Given the description of an element on the screen output the (x, y) to click on. 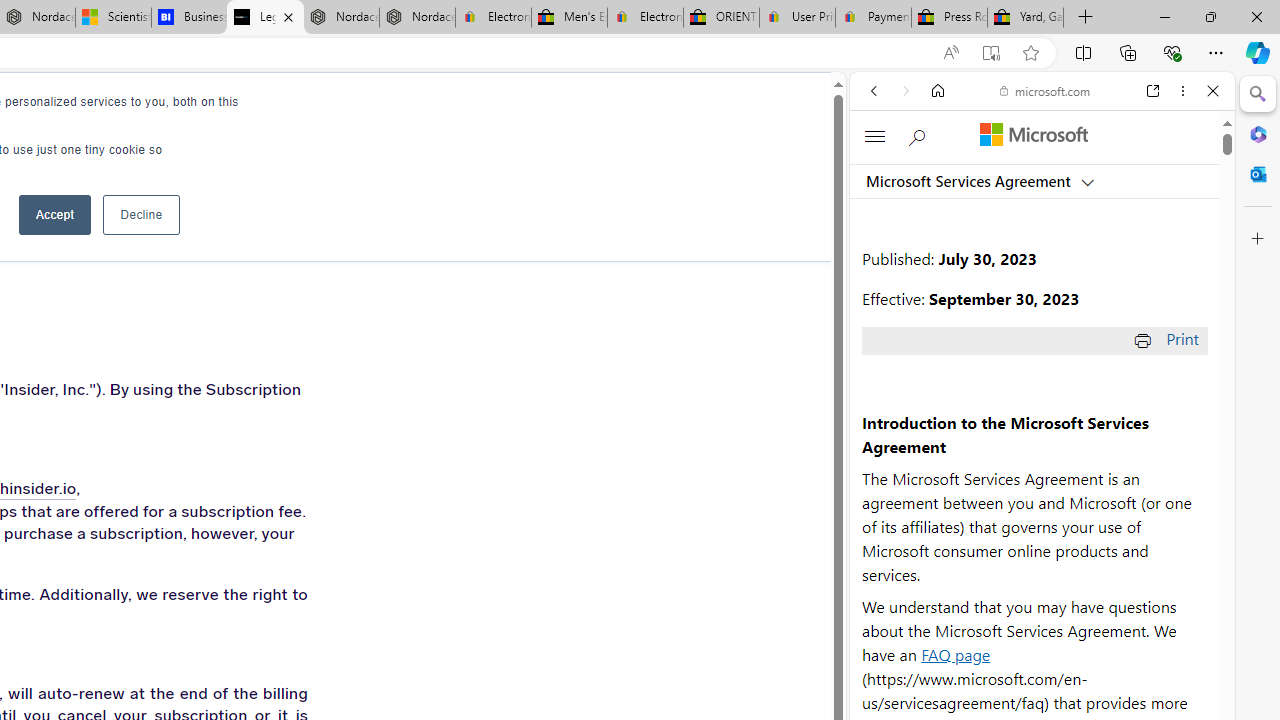
User Privacy Notice | eBay (797, 17)
Accept (54, 214)
Yard, Garden & Outdoor Living (1025, 17)
